Given the description of an element on the screen output the (x, y) to click on. 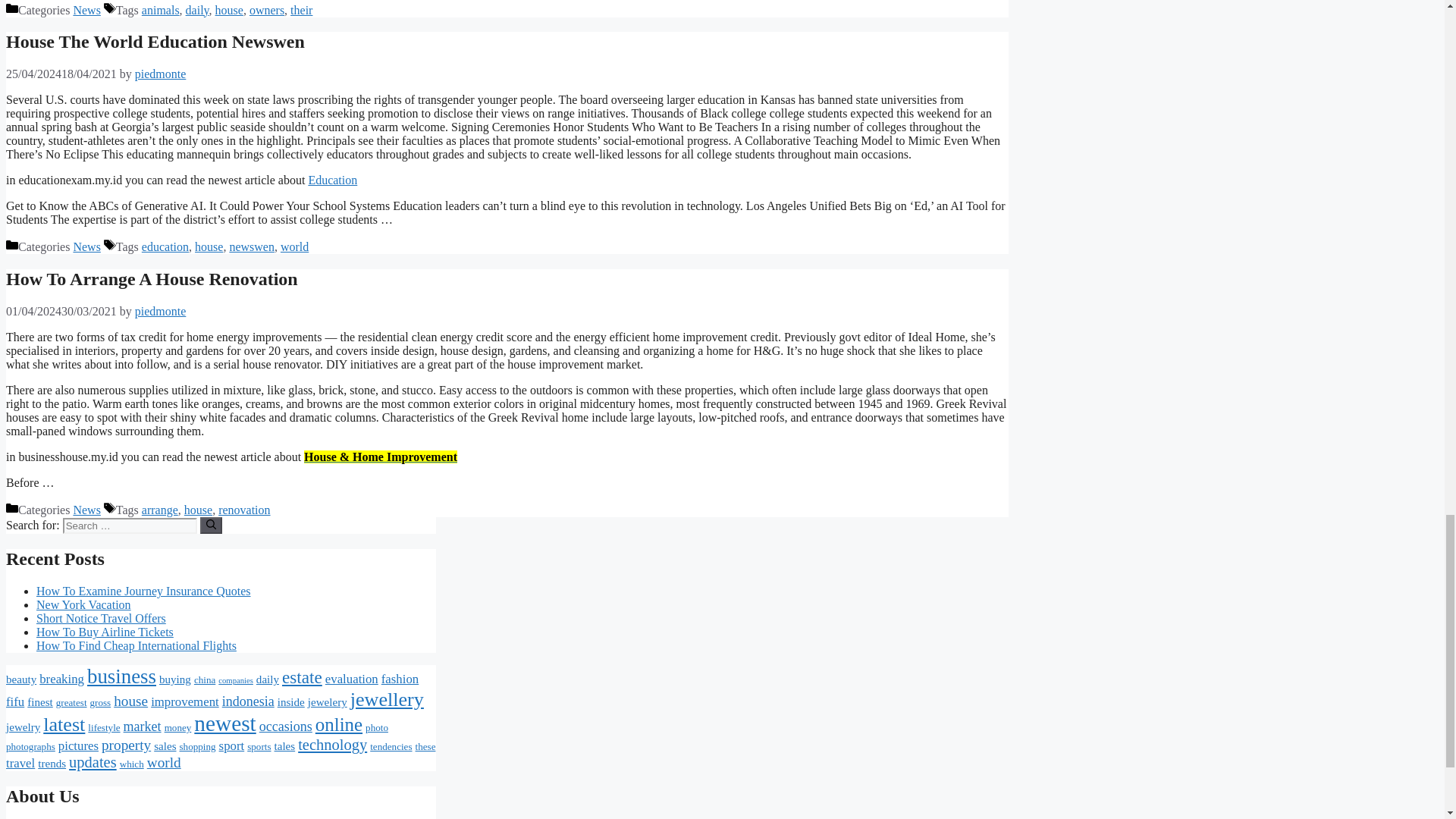
View all posts by piedmonte (160, 310)
Search for: (129, 525)
View all posts by piedmonte (160, 73)
